Given the description of an element on the screen output the (x, y) to click on. 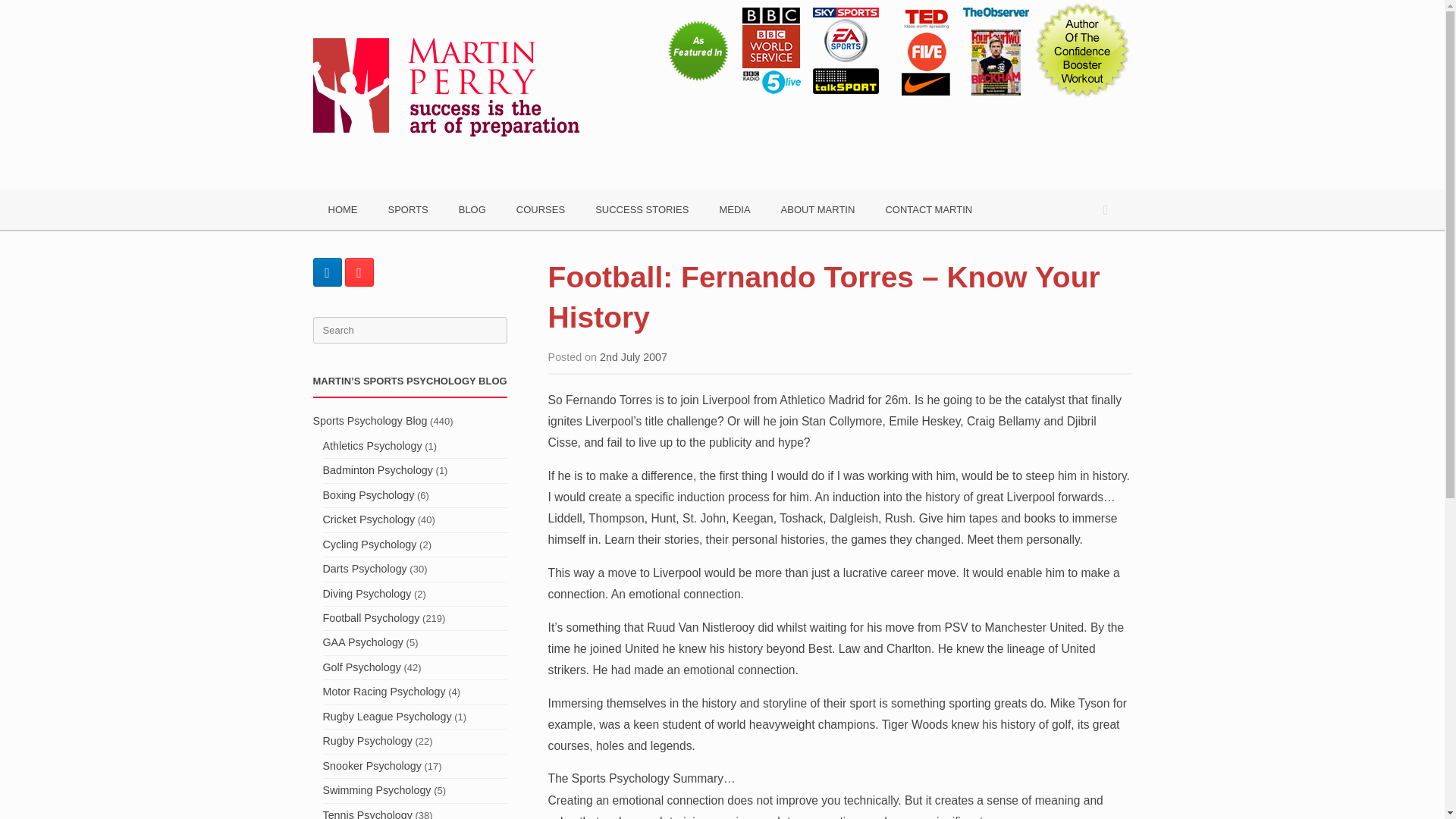
COURSES (539, 209)
BLOG (472, 209)
ABOUT MARTIN (817, 209)
The Martin Effect LinkedIn (326, 271)
SUCCESS STORIES (641, 209)
SPORTS (408, 209)
2:34 pm (632, 357)
The Martin Effect YouTube (357, 271)
HOME (342, 209)
CONTACT MARTIN (928, 209)
